Given the description of an element on the screen output the (x, y) to click on. 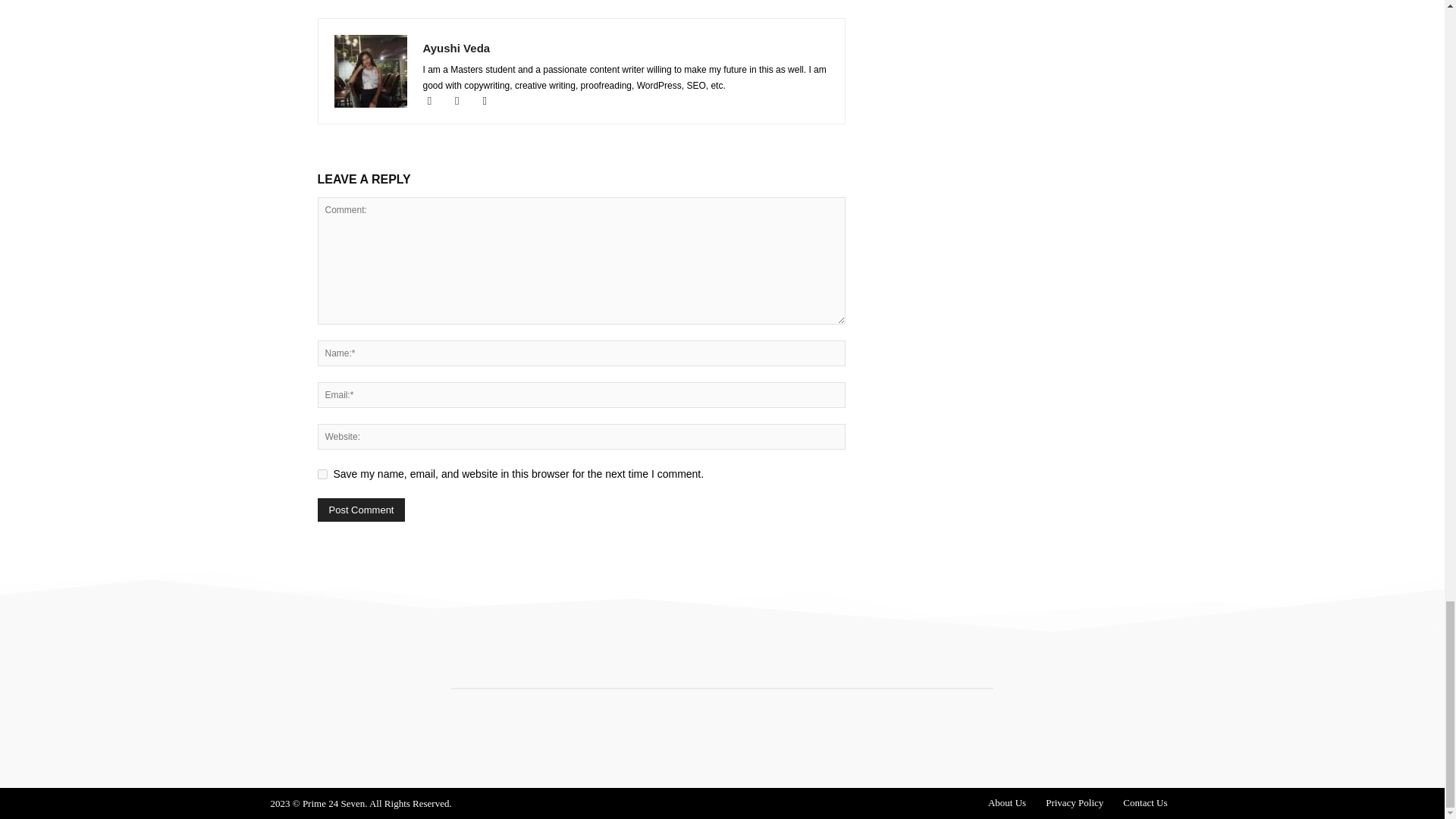
Post Comment (360, 509)
yes (321, 474)
